Given the description of an element on the screen output the (x, y) to click on. 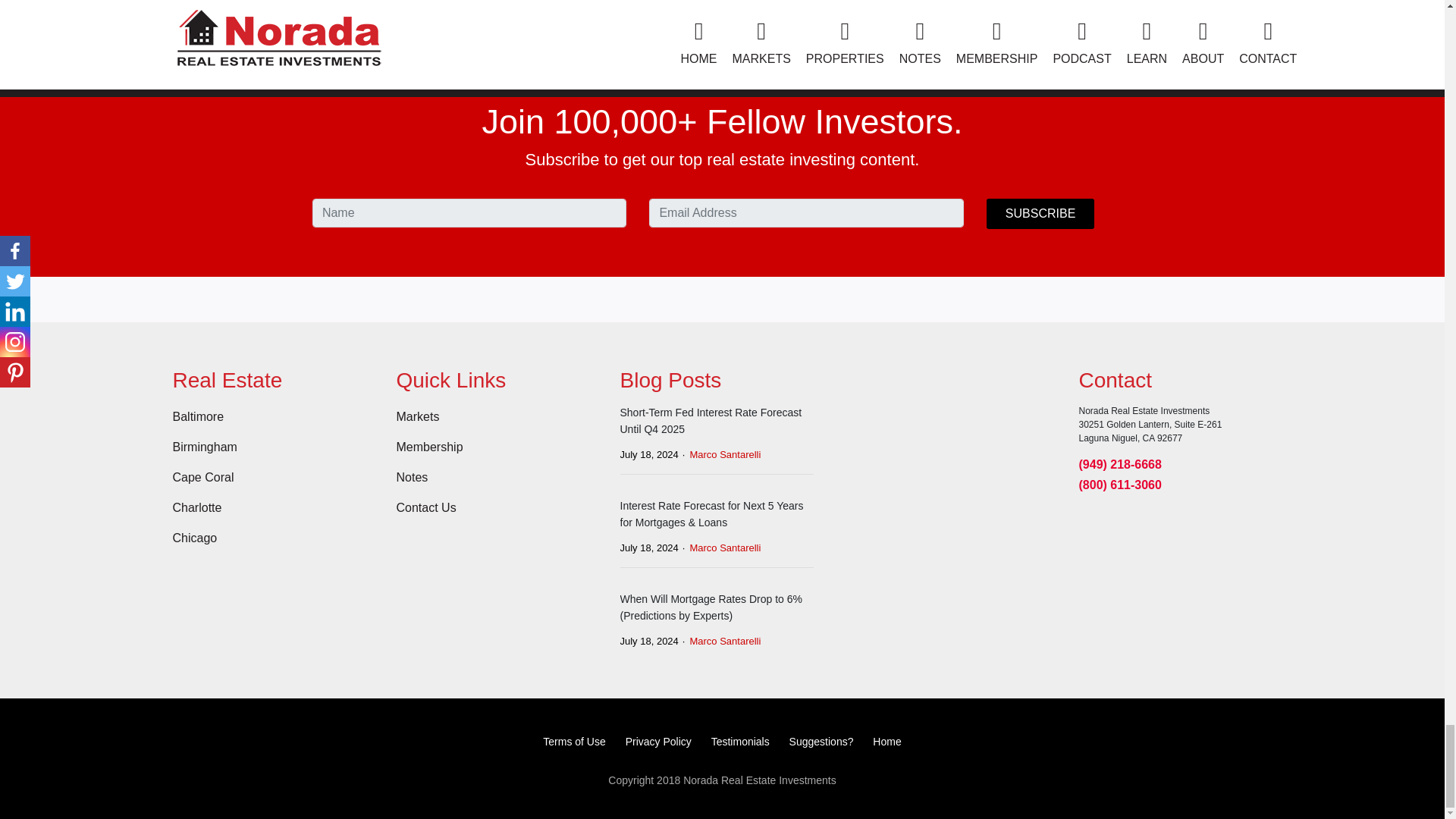
SUBSCRIBE (1040, 214)
